Given the description of an element on the screen output the (x, y) to click on. 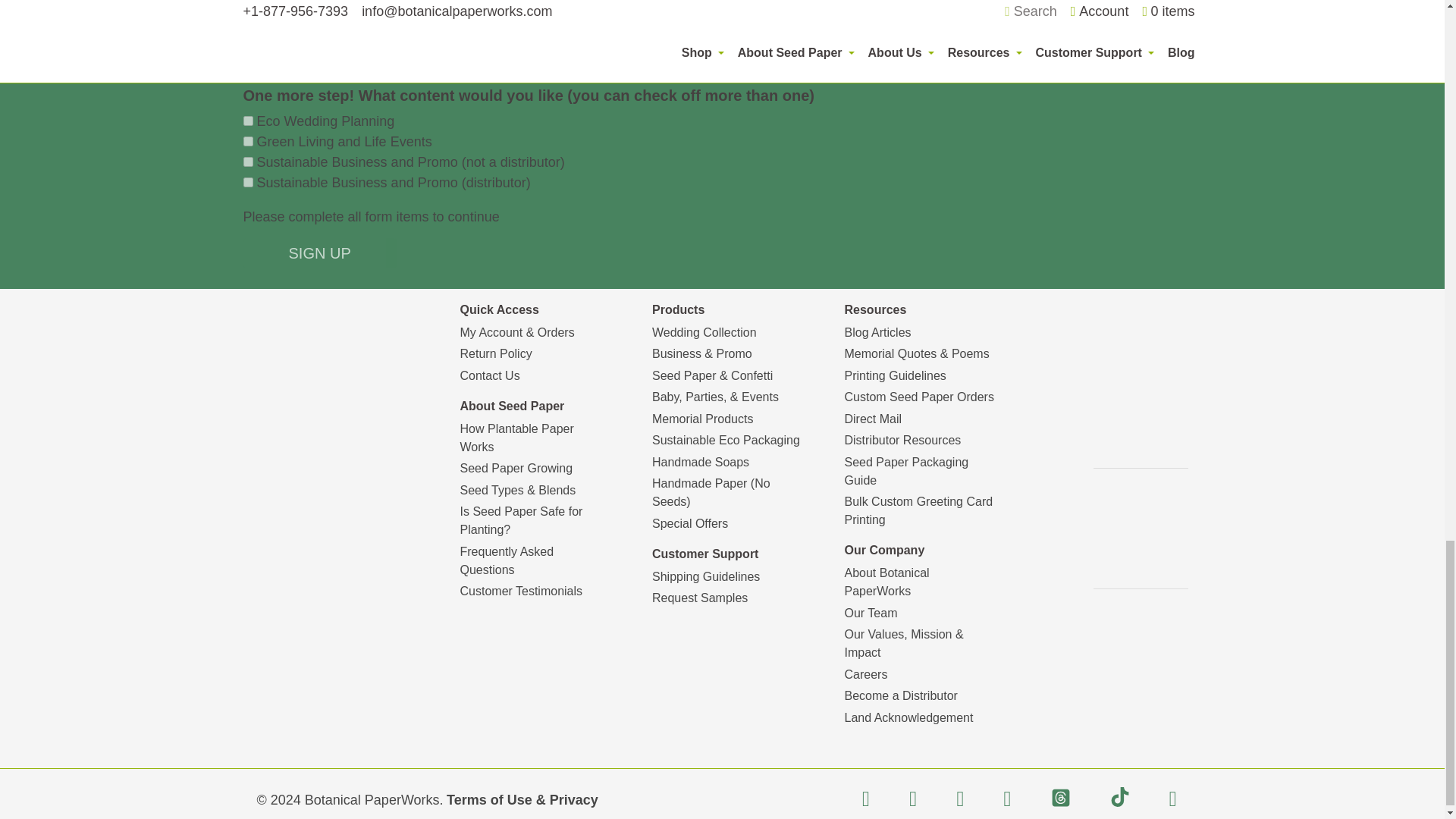
f8bb024828 (247, 162)
de72e68fef (247, 121)
b3a7c6e35e (247, 182)
Sign up (319, 253)
ffe58d4ca5 (247, 141)
